Given the description of an element on the screen output the (x, y) to click on. 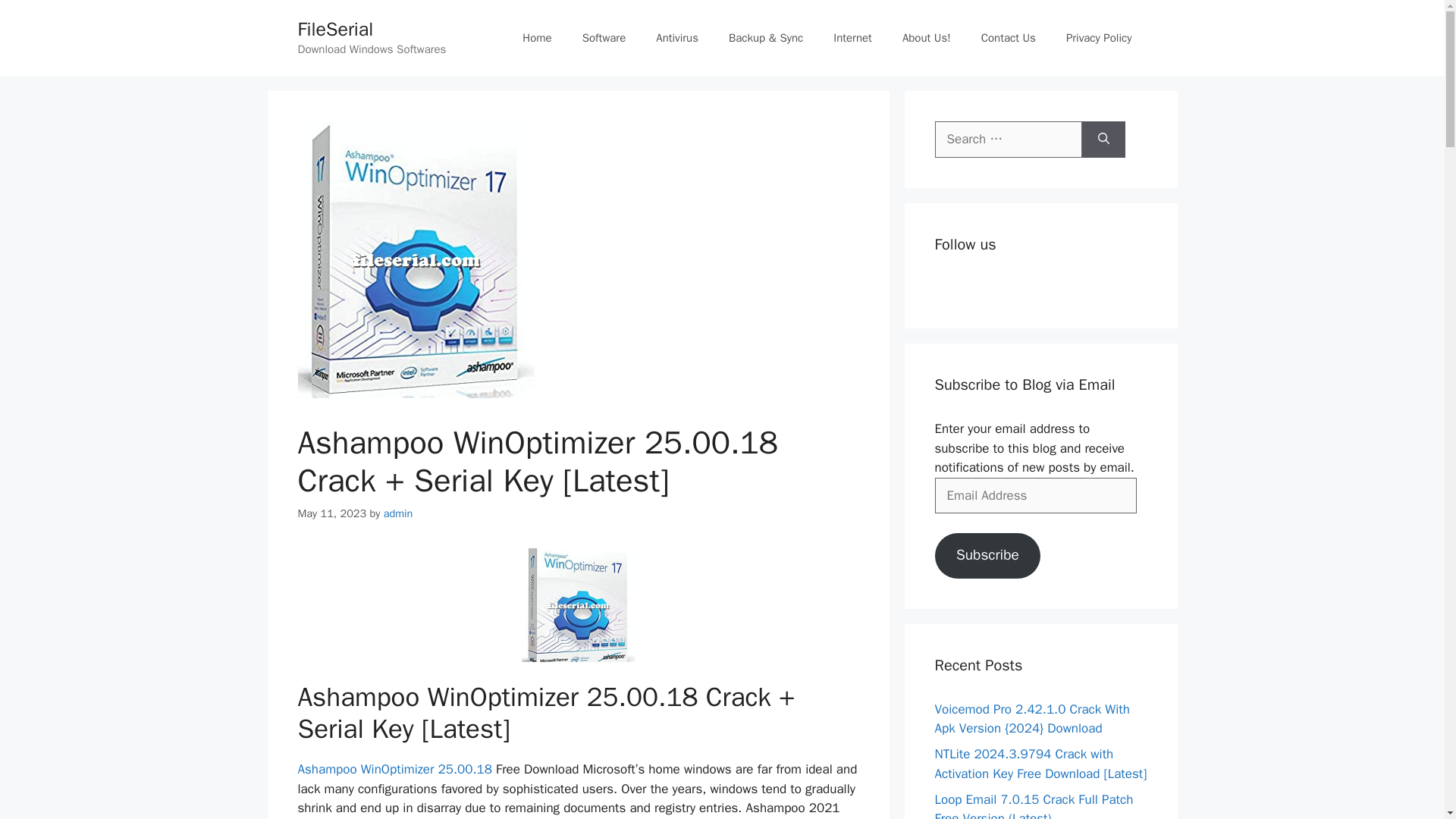
Internet (852, 37)
Antivirus (676, 37)
View all posts by admin (398, 513)
Ashampoo WinOptimizer 25.00.18 (394, 769)
admin (398, 513)
Search for: (1007, 139)
Home (536, 37)
About Us! (926, 37)
Software (604, 37)
FileSerial (334, 28)
Contact Us (1008, 37)
Privacy Policy (1099, 37)
